Given the description of an element on the screen output the (x, y) to click on. 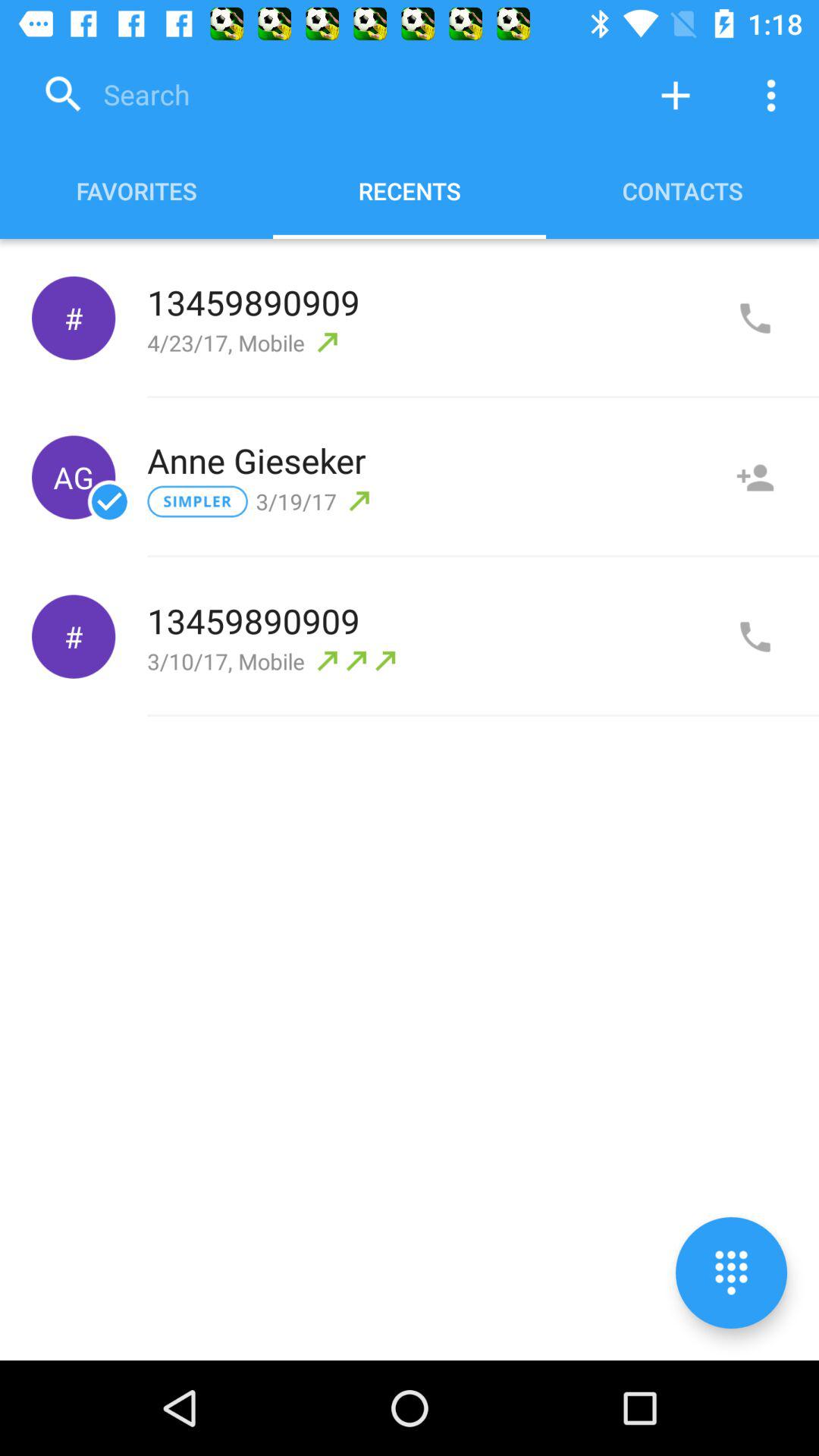
view profile (755, 477)
